Given the description of an element on the screen output the (x, y) to click on. 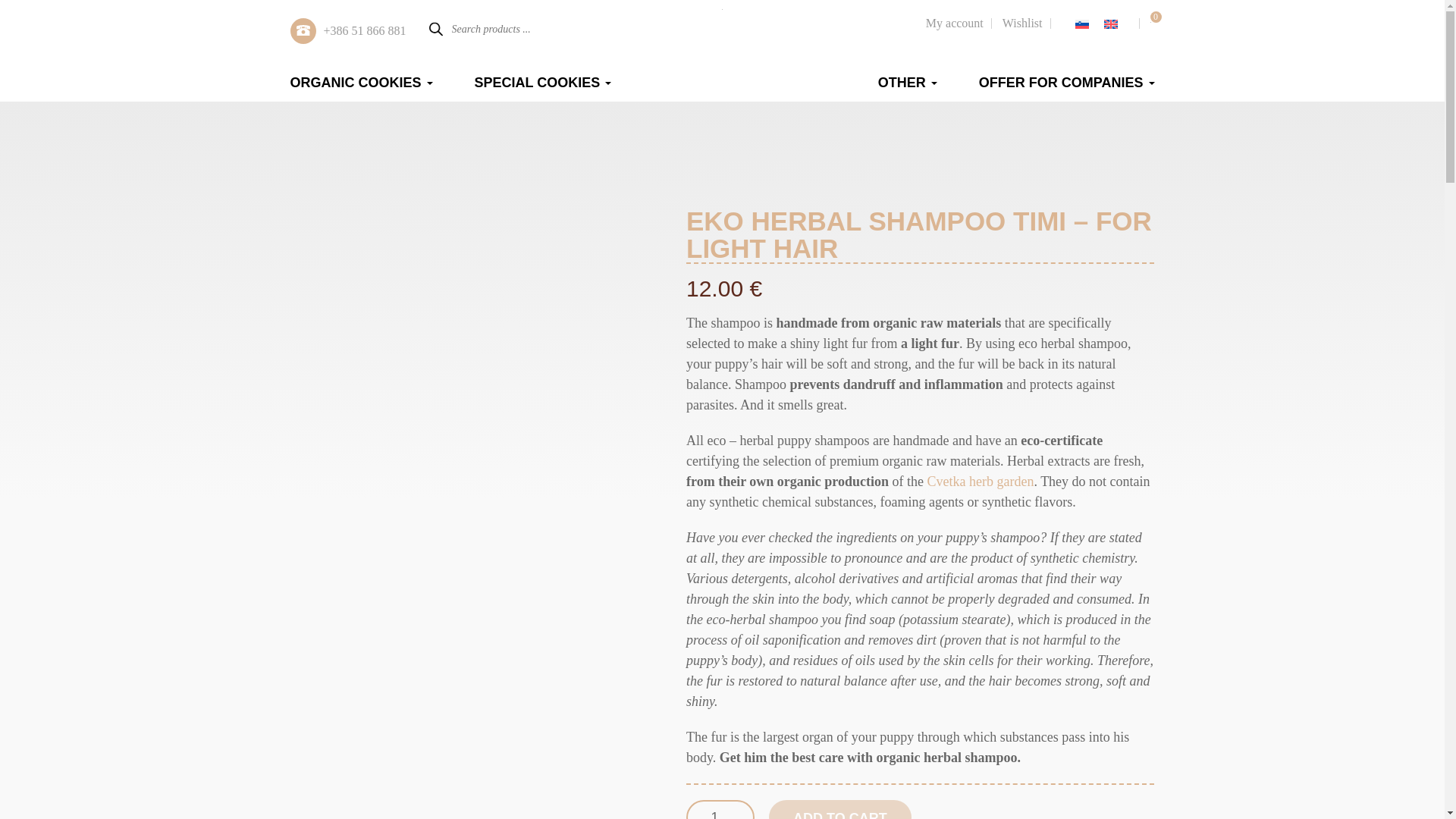
1 (719, 809)
Special cookies (542, 82)
Organic cookies (360, 82)
